Given the description of an element on the screen output the (x, y) to click on. 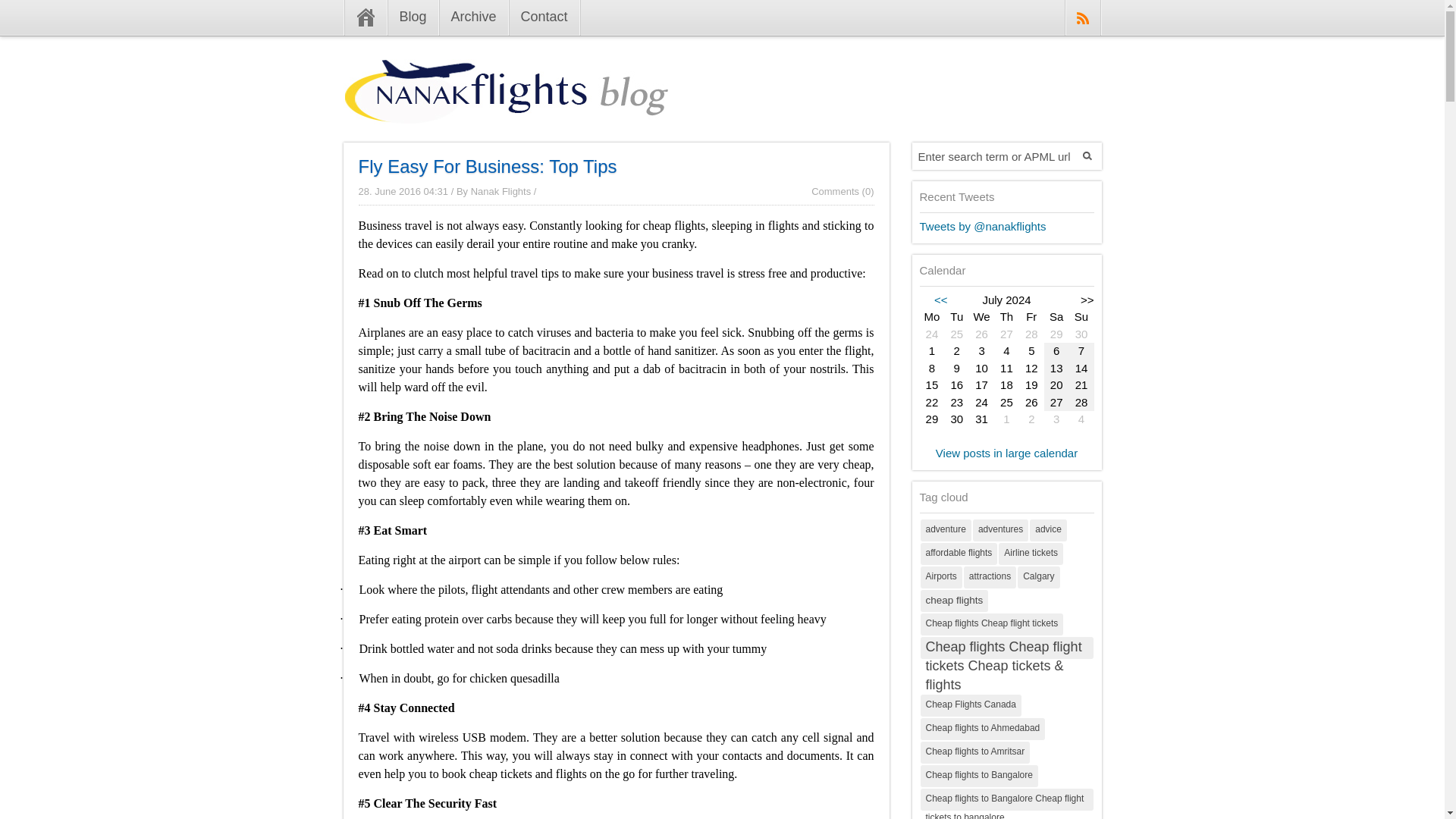
Archive (473, 18)
Nanak Flights (500, 191)
Subscribe (1082, 18)
Tag: attractions (989, 576)
Tag: advice (1048, 529)
View posts in large calendar (1006, 452)
Search (1087, 155)
Tag: adventure (945, 529)
Tag: affordable flights (958, 553)
Calendar (1005, 368)
Nanak Flights Blog (505, 111)
Blog (413, 18)
Tag: adventures (999, 529)
Tag: Calgary (1038, 576)
Enter search term or APML url (992, 155)
